Given the description of an element on the screen output the (x, y) to click on. 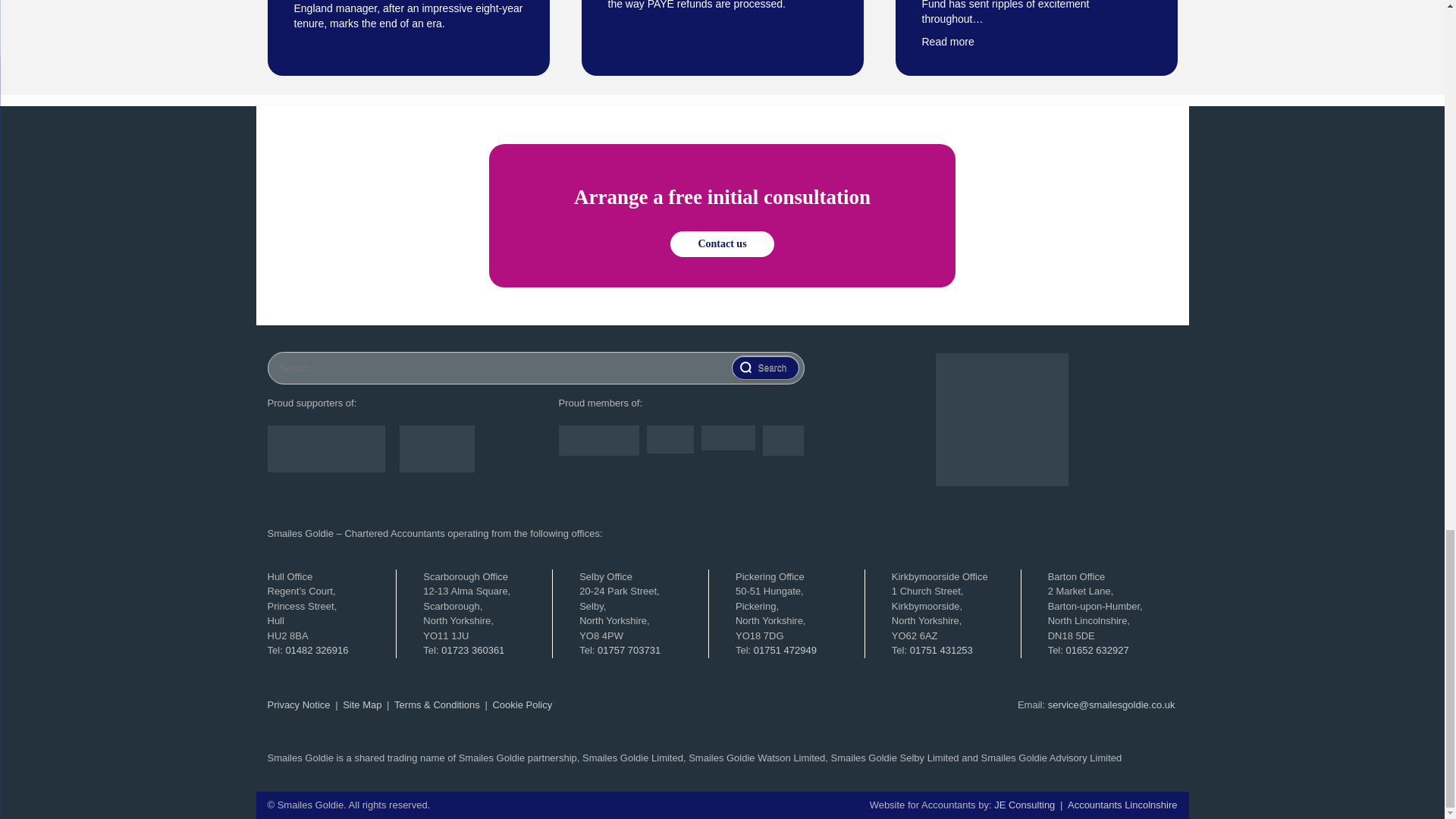
Celebrating 125 years (1002, 419)
Understanding the new process for PAYE refunds (722, 5)
Website for Accountants (1025, 804)
Chartered Accountants in Lincolnshire (1121, 804)
Search (764, 367)
